Given the description of an element on the screen output the (x, y) to click on. 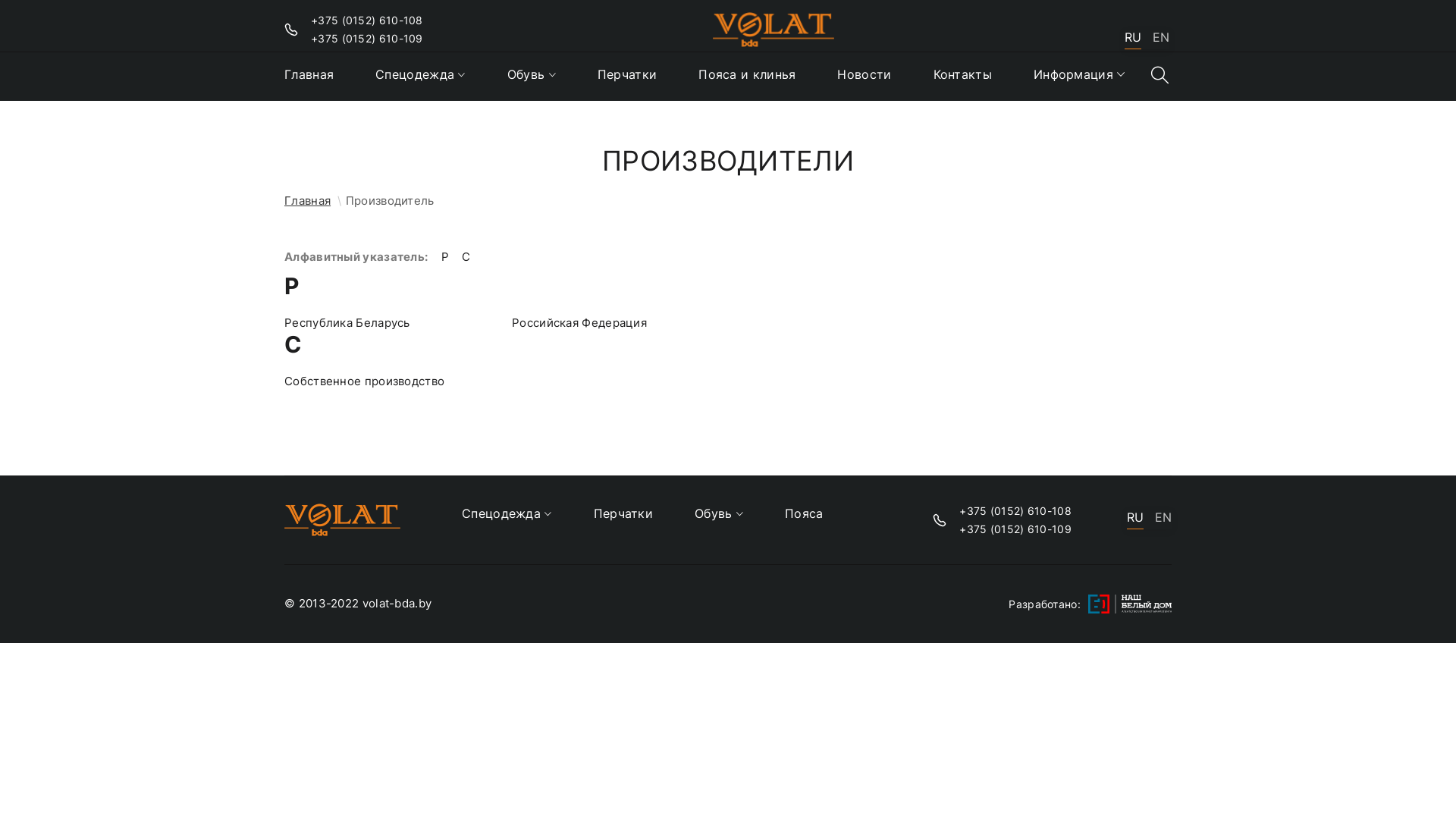
RU Element type: text (1134, 519)
EN Element type: text (1162, 519)
+375 (0152) 610-109 Element type: text (366, 38)
+375 (0152) 610-109 Element type: text (1015, 529)
EN Element type: text (1160, 39)
+375 (0152) 610-108 Element type: text (366, 20)
RU Element type: text (1132, 39)
+375 (0152) 610-108 Element type: text (1015, 511)
